Given the description of an element on the screen output the (x, y) to click on. 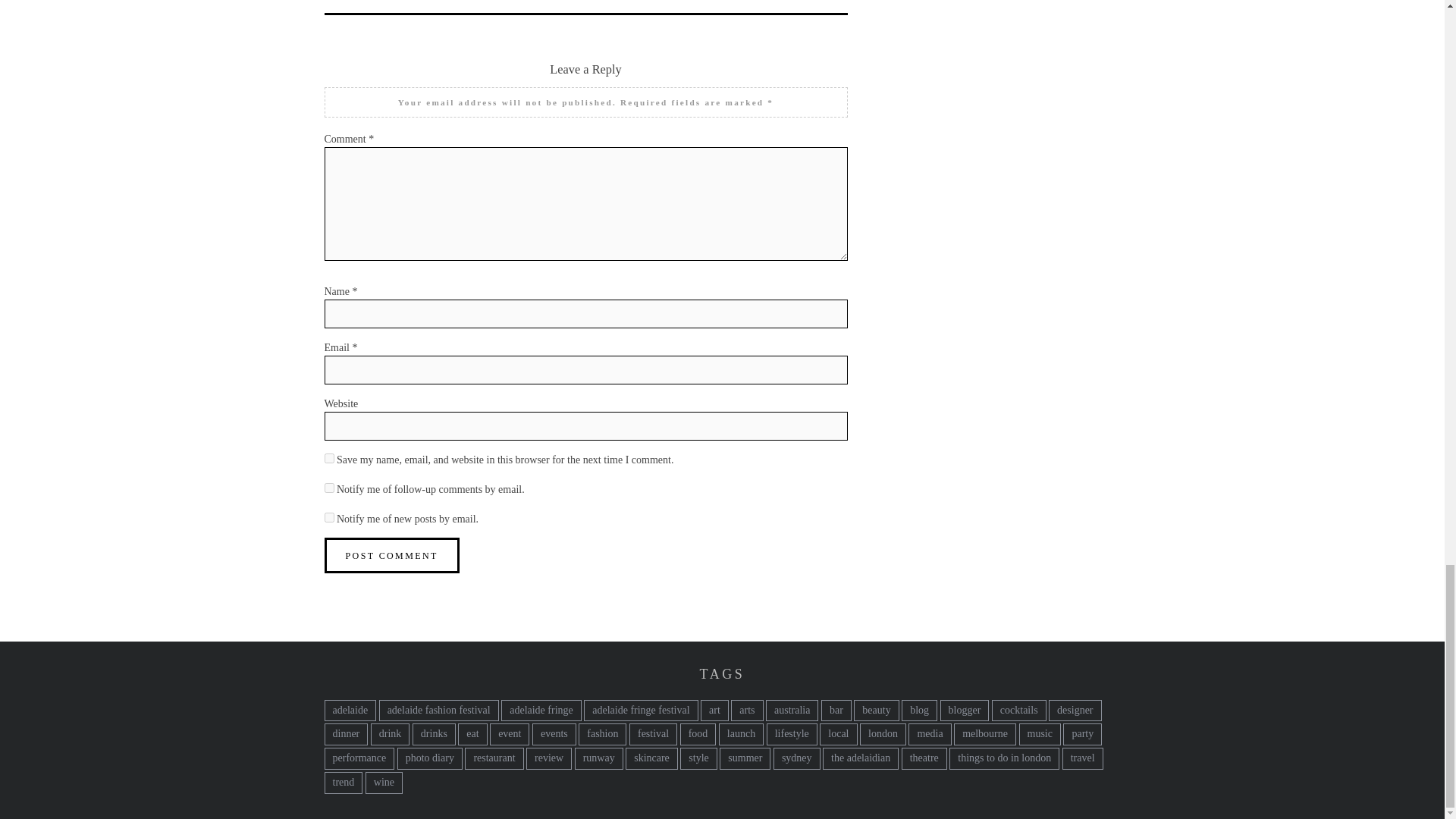
Post Comment (392, 555)
subscribe (329, 516)
subscribe (329, 488)
yes (329, 457)
